Given the description of an element on the screen output the (x, y) to click on. 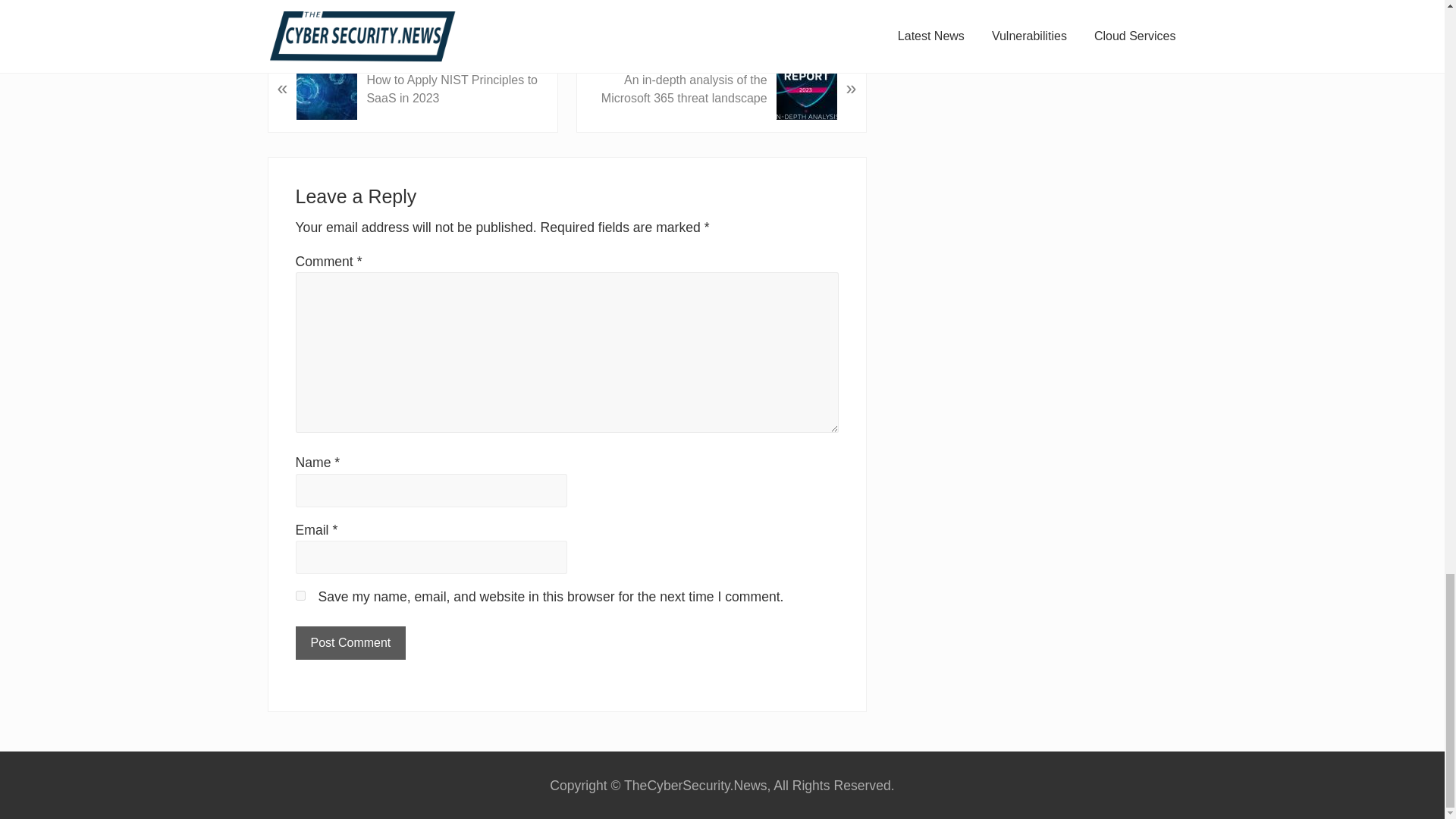
Post Comment (350, 643)
yes (300, 595)
Post Comment (350, 643)
